Given the description of an element on the screen output the (x, y) to click on. 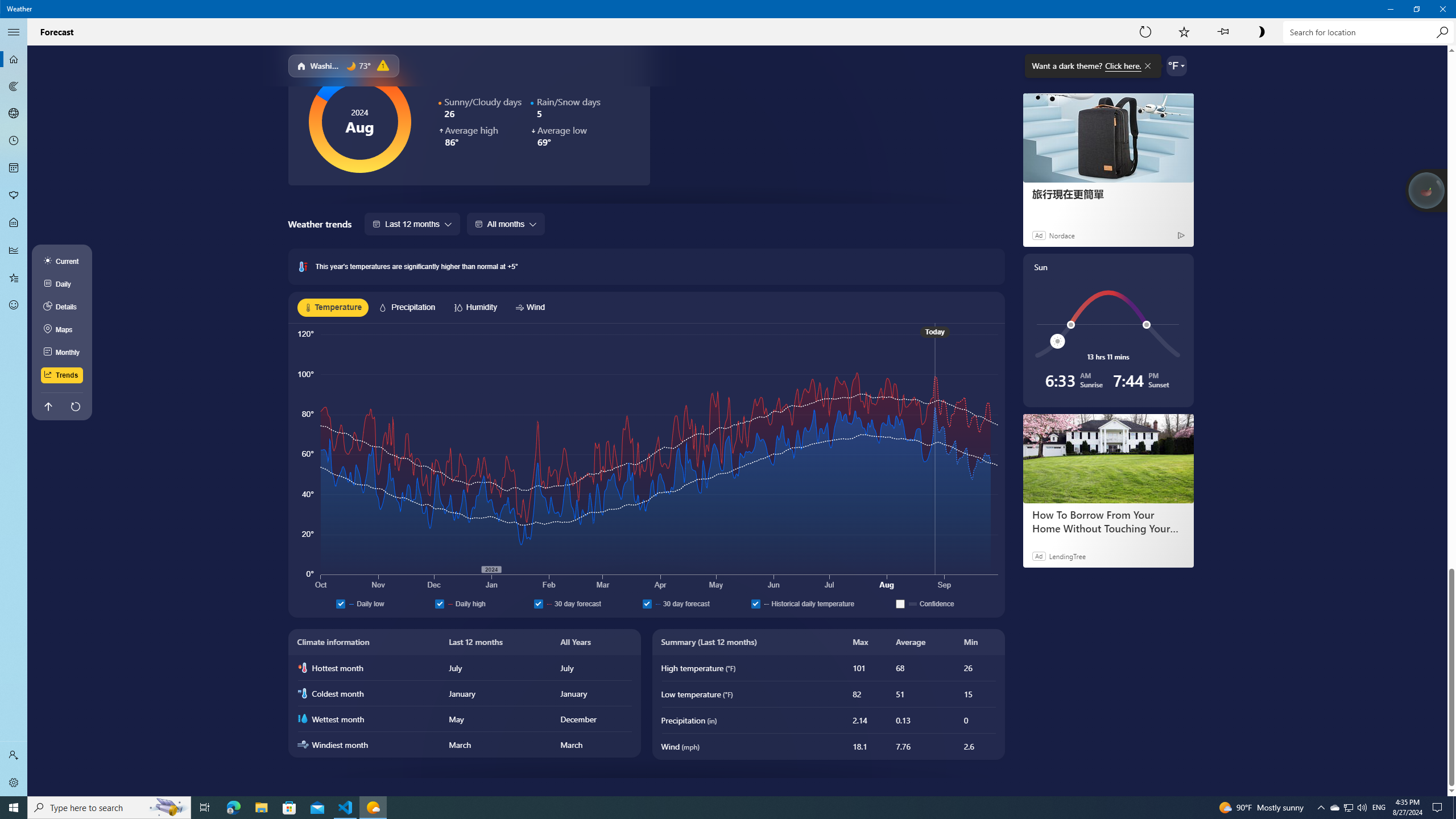
Send Feedback - Not Selected (13, 304)
File Explorer (261, 807)
Search for location (1367, 32)
Turn on dark theme (1261, 31)
Send Feedback - Not Selected (1347, 807)
Task View (13, 304)
Hourly Forecast - Not Selected (204, 807)
Visual Studio Code - 1 running window (13, 140)
Show desktop (345, 807)
Tray Input Indicator - English (United States) (1454, 807)
User Promoted Notification Area (1378, 807)
Forecast - Not Selected (1347, 807)
Type here to search (13, 58)
